Given the description of an element on the screen output the (x, y) to click on. 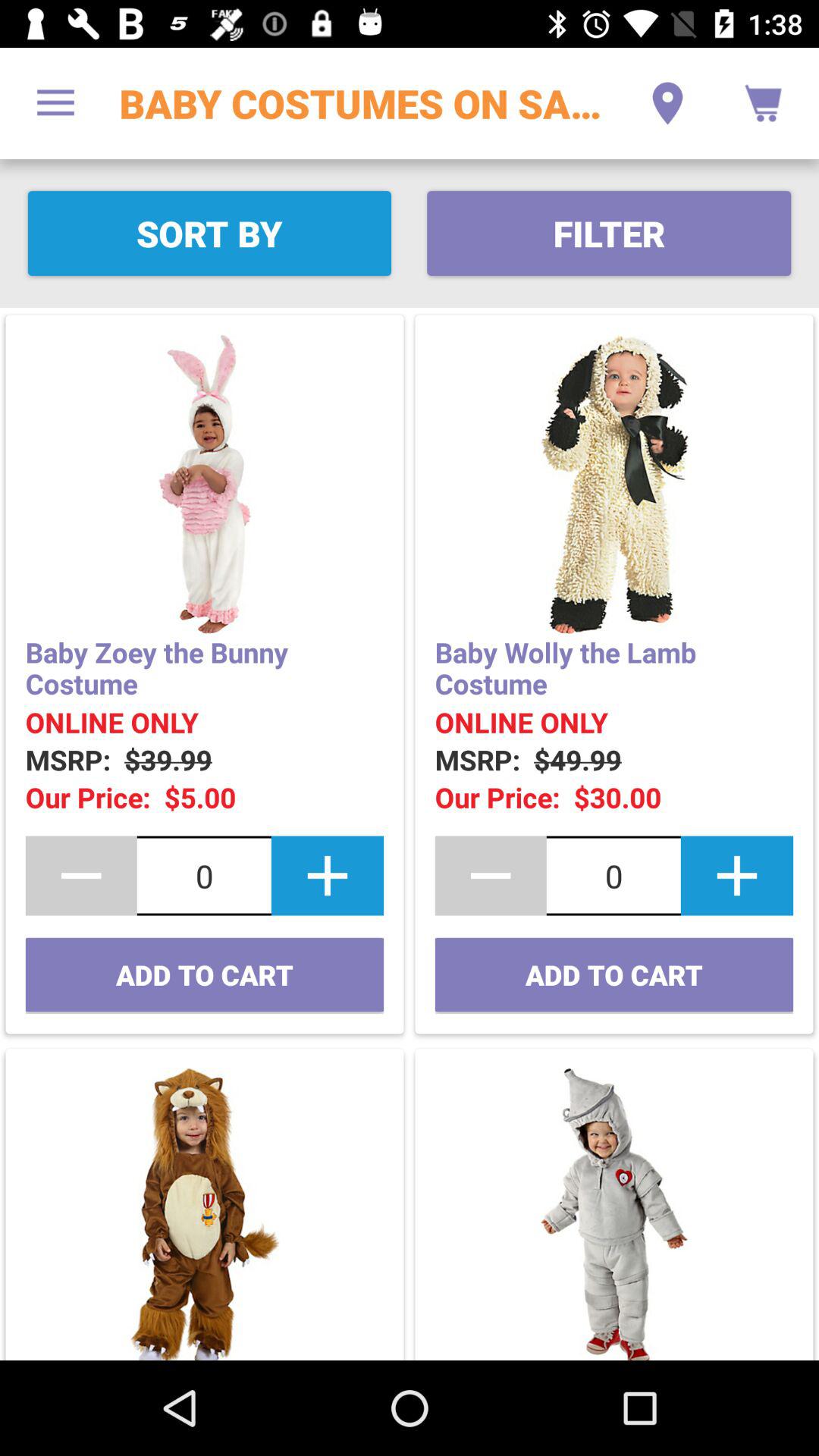
select filter (609, 233)
